Given the description of an element on the screen output the (x, y) to click on. 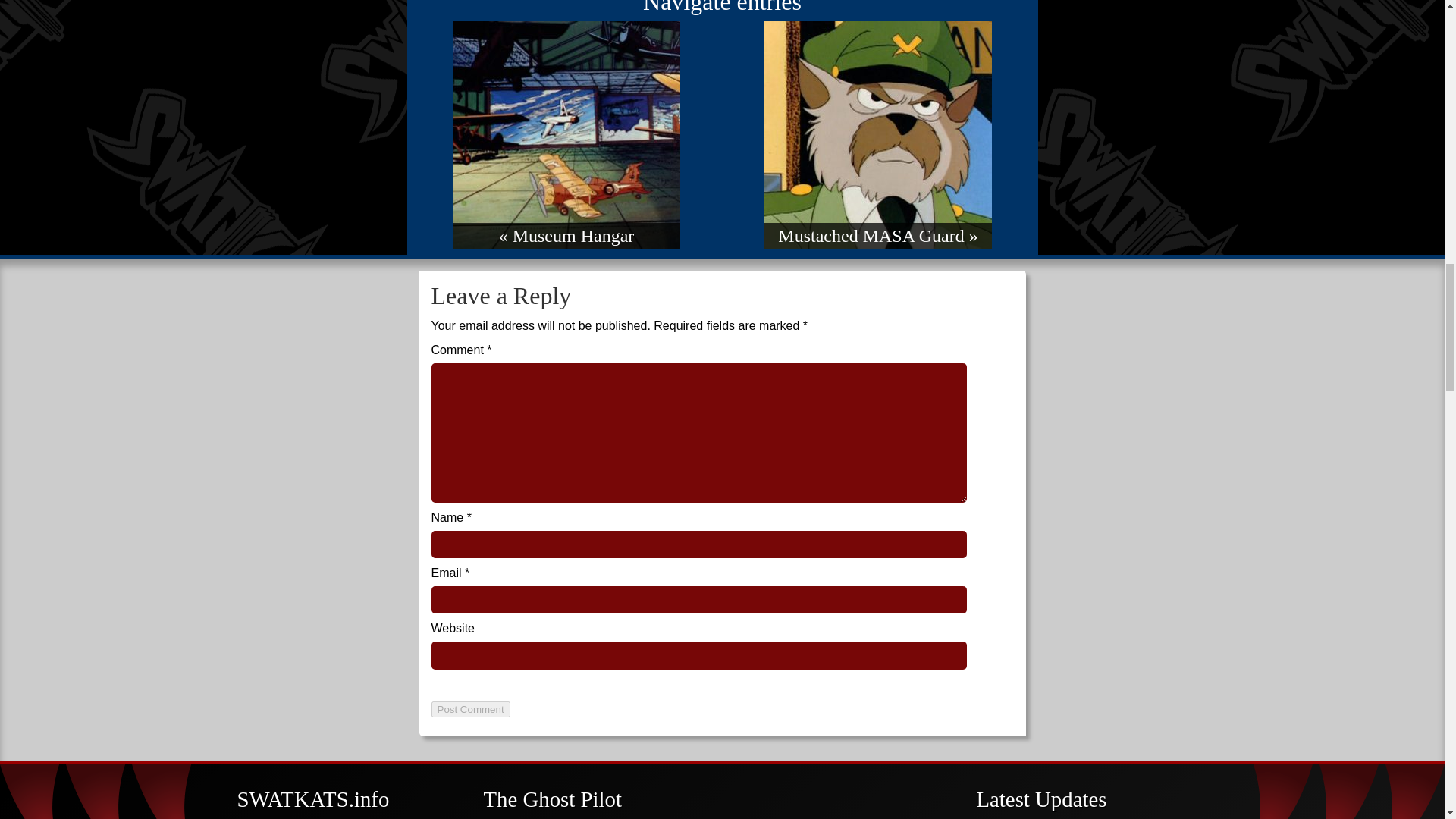
Post Comment (469, 709)
